Given the description of an element on the screen output the (x, y) to click on. 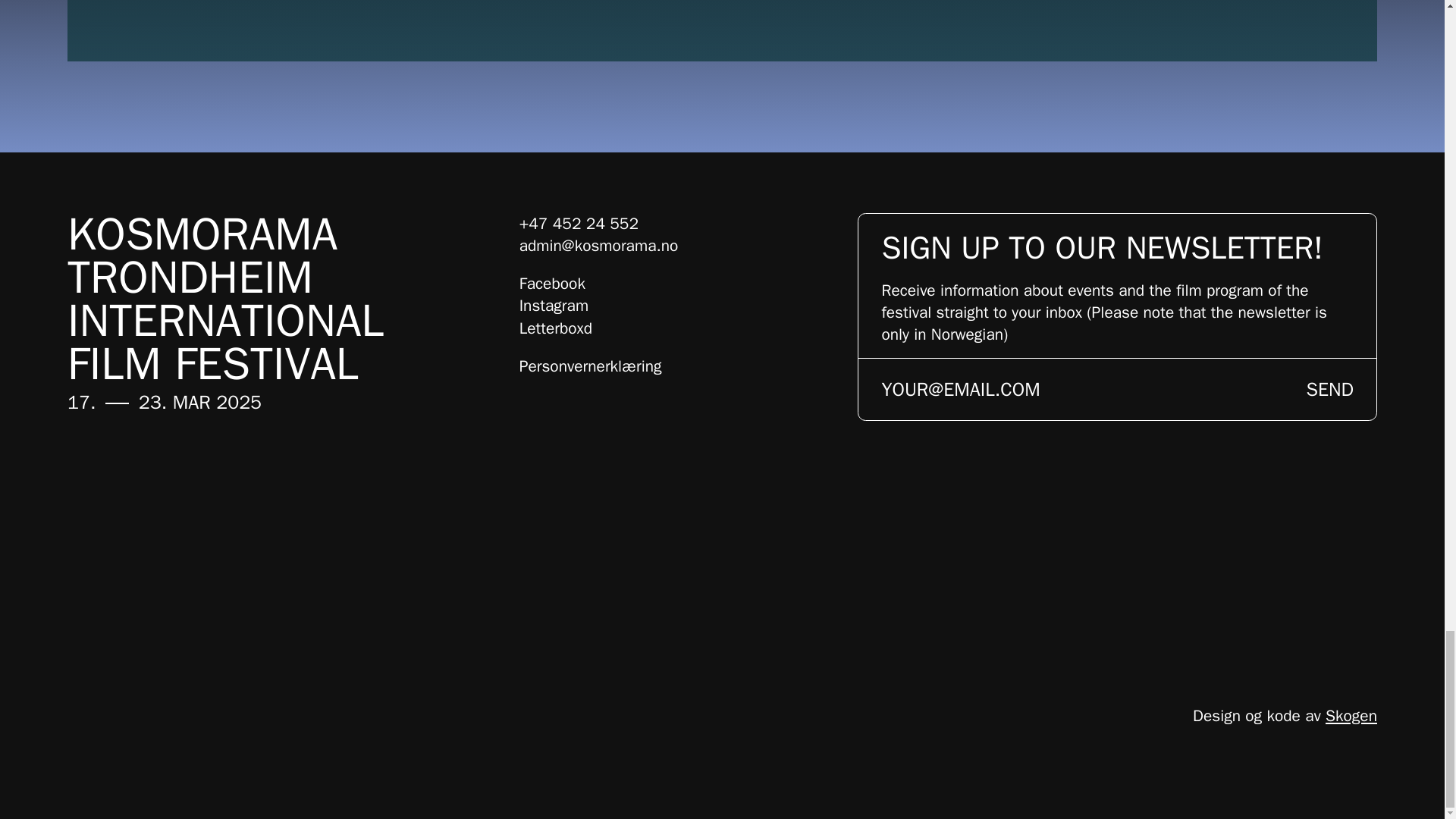
Facebook (552, 283)
Instagram (553, 305)
SEND (1329, 388)
Skogen (1350, 715)
Letterboxd (555, 328)
